Given the description of an element on the screen output the (x, y) to click on. 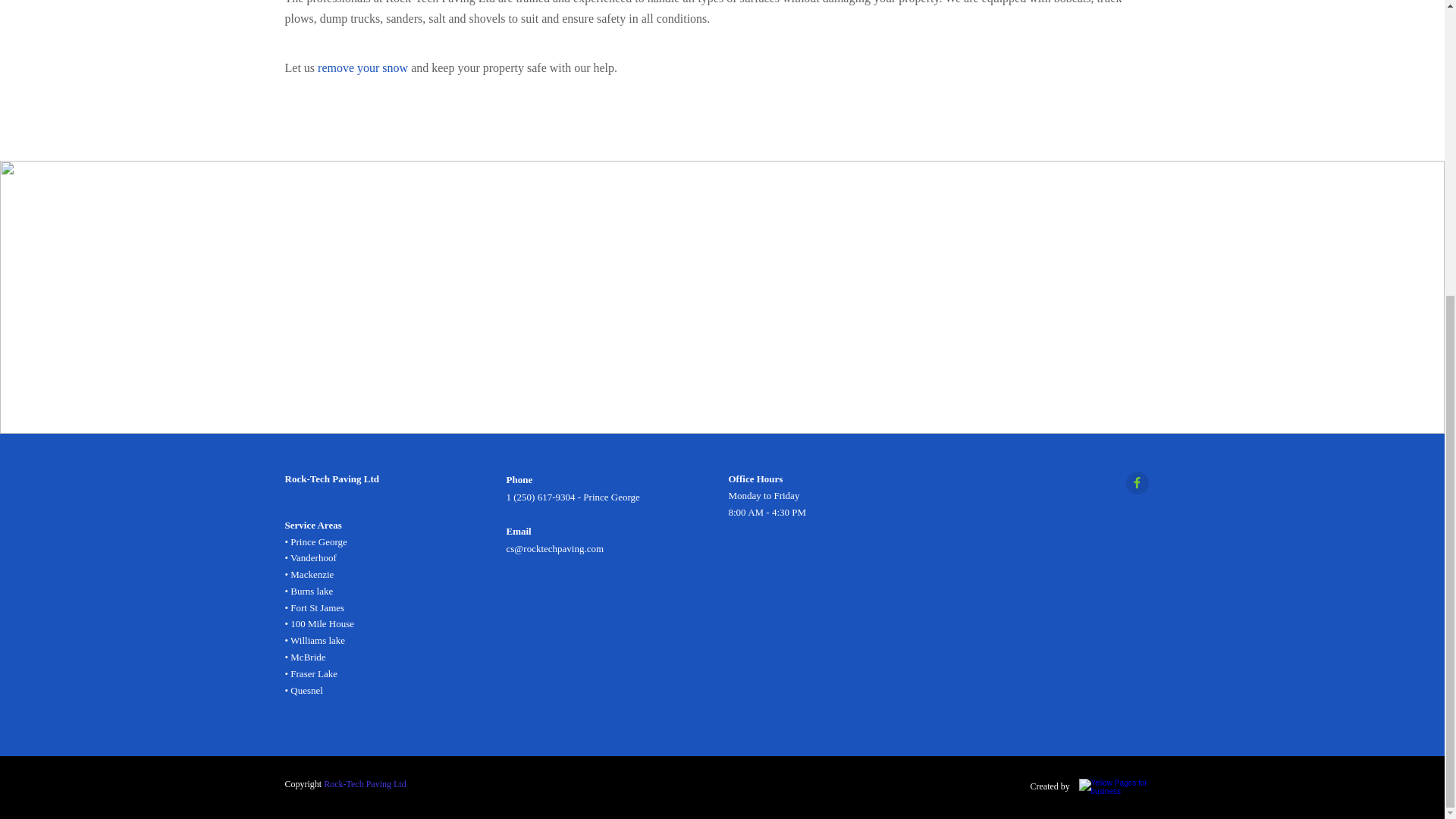
Rock-Tech Paving Ltd (364, 783)
remove your snow (362, 67)
